Given the description of an element on the screen output the (x, y) to click on. 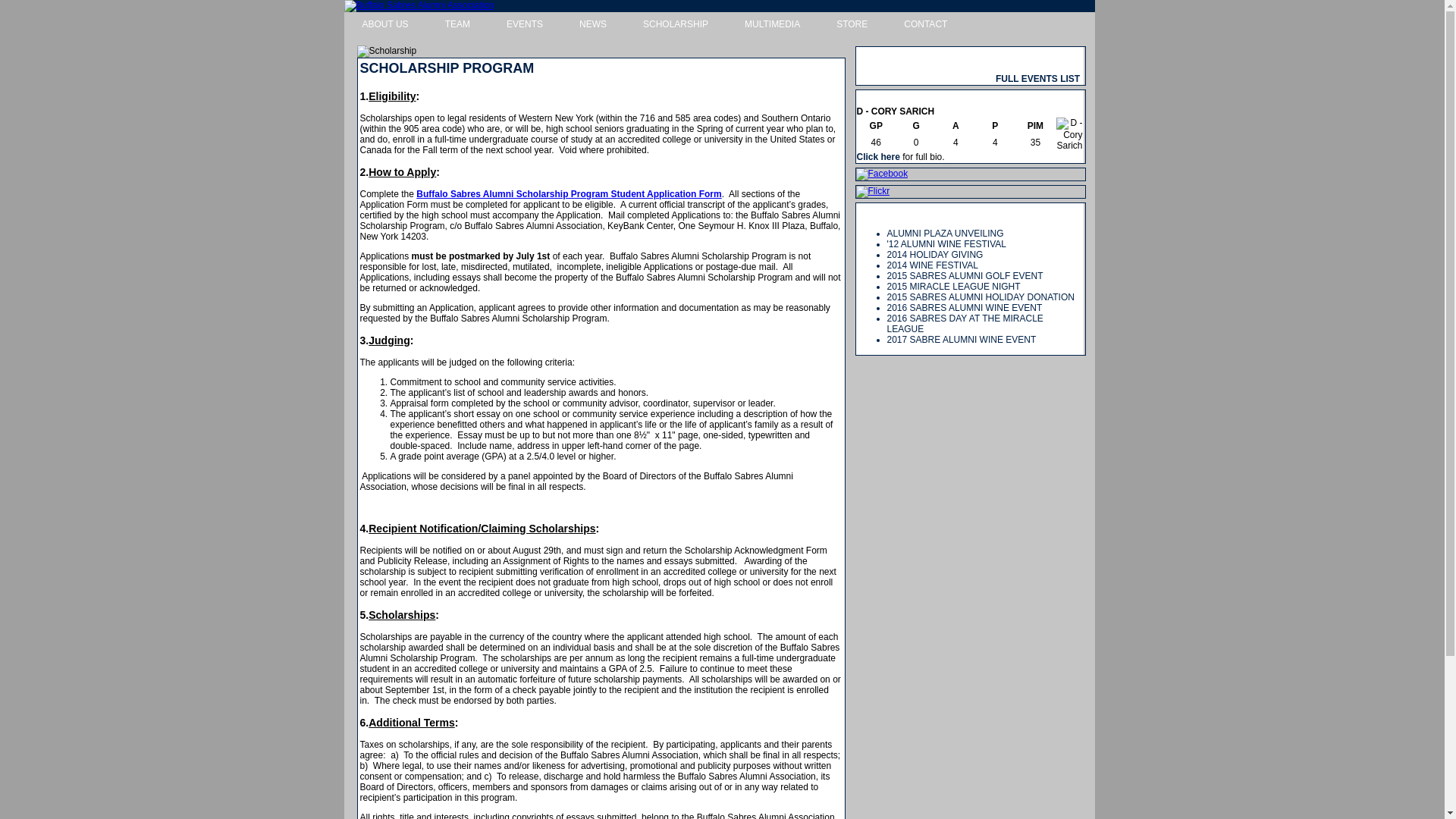
2014 HOLIDAY GIVING (935, 254)
'12 ALUMNI WINE FESTIVAL (946, 244)
STORE (851, 25)
FULL EVENTS LIST (1037, 78)
ALUMNI PLAZA UNVEILING (945, 233)
2017 SABRE ALUMNI WINE EVENT (961, 339)
SCHOLARSHIP (675, 25)
2016 SABRES ALUMNI WINE EVENT (964, 307)
2014 WINE FESTIVAL (932, 265)
EVENTS (523, 25)
2015 SABRES ALUMNI GOLF EVENT (964, 276)
ABOUT US (384, 25)
NEWS (592, 25)
TEAM (456, 25)
2015 SABRES ALUMNI HOLIDAY DONATION (980, 296)
